Given the description of an element on the screen output the (x, y) to click on. 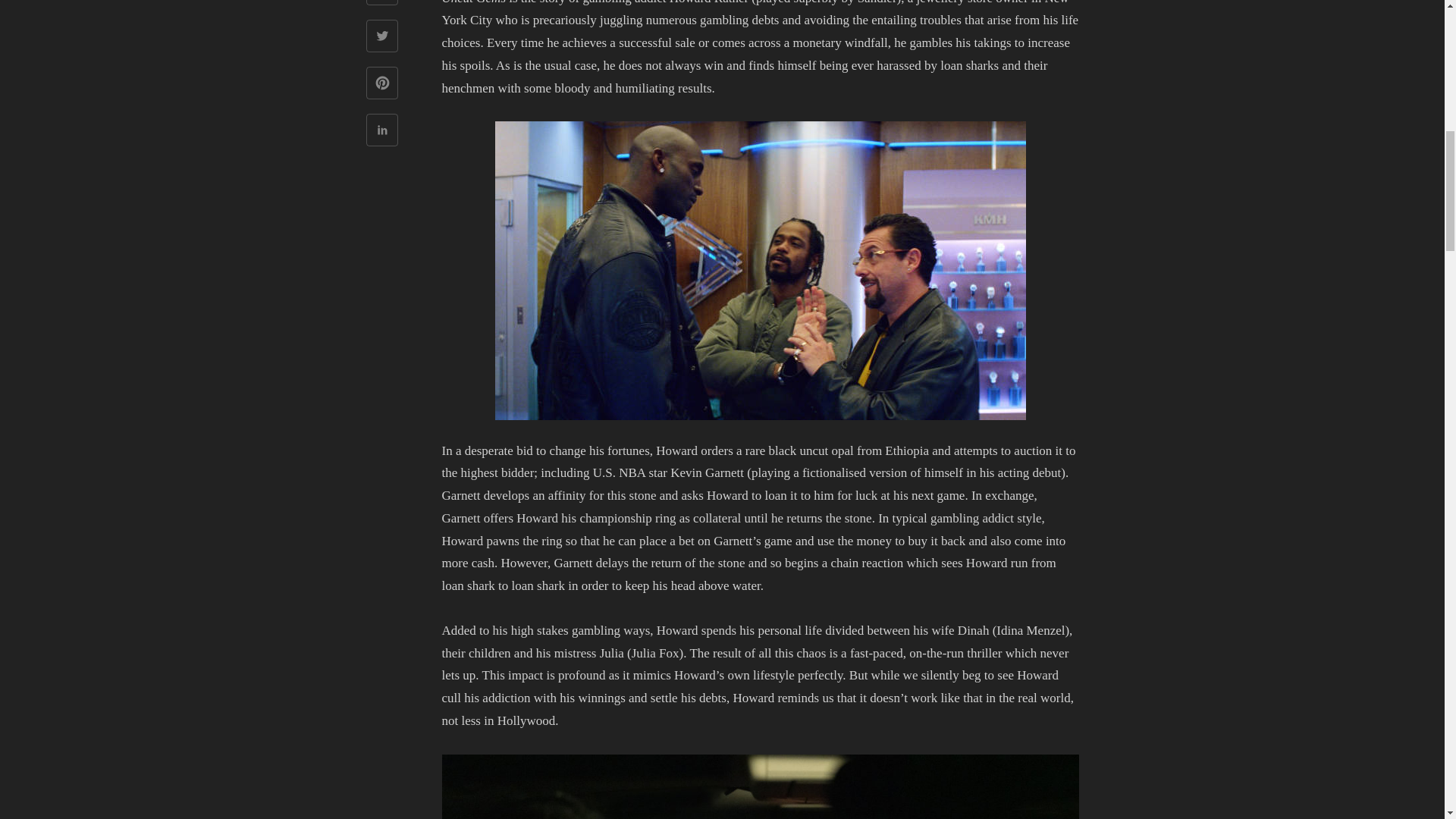
Share on Pinterest (381, 84)
Share on Facebook (381, 4)
Share on Twitter (381, 37)
Share on Linkedin (381, 131)
